Given the description of an element on the screen output the (x, y) to click on. 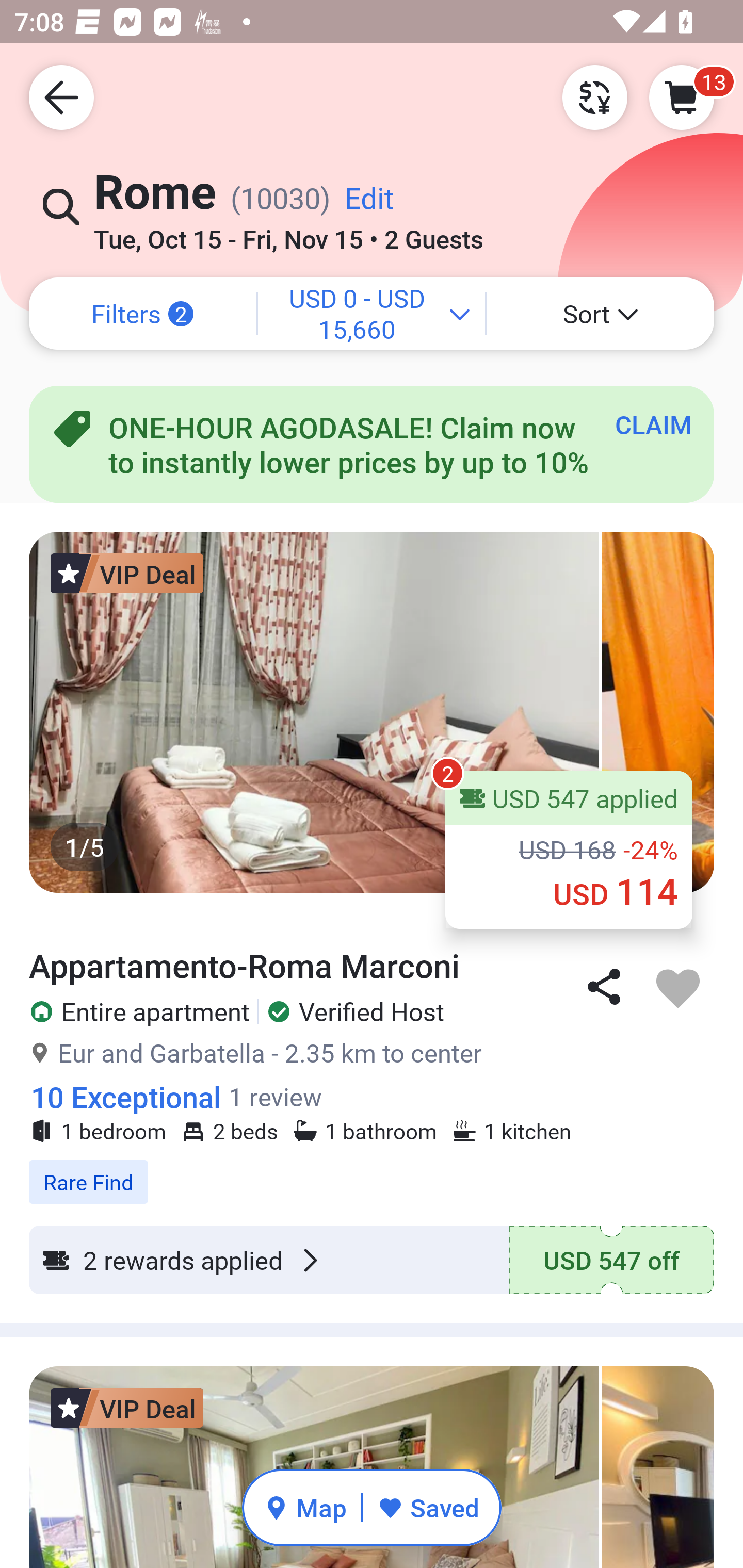
Filters 2 (141, 313)
⁦USD 0⁩ - ⁦USD 15,660⁩ (371, 313)
Sort (600, 313)
CLAIM (653, 424)
VIP Deal (126, 572)
1/5 (371, 711)
USD 547 applied ‪USD 168 -24% ‪USD 114 2 (568, 849)
Rare Find (371, 1171)
2 rewards applied USD 547 off (371, 1259)
VIP Deal (126, 1407)
Map (305, 1507)
Saved (428, 1507)
